Given the description of an element on the screen output the (x, y) to click on. 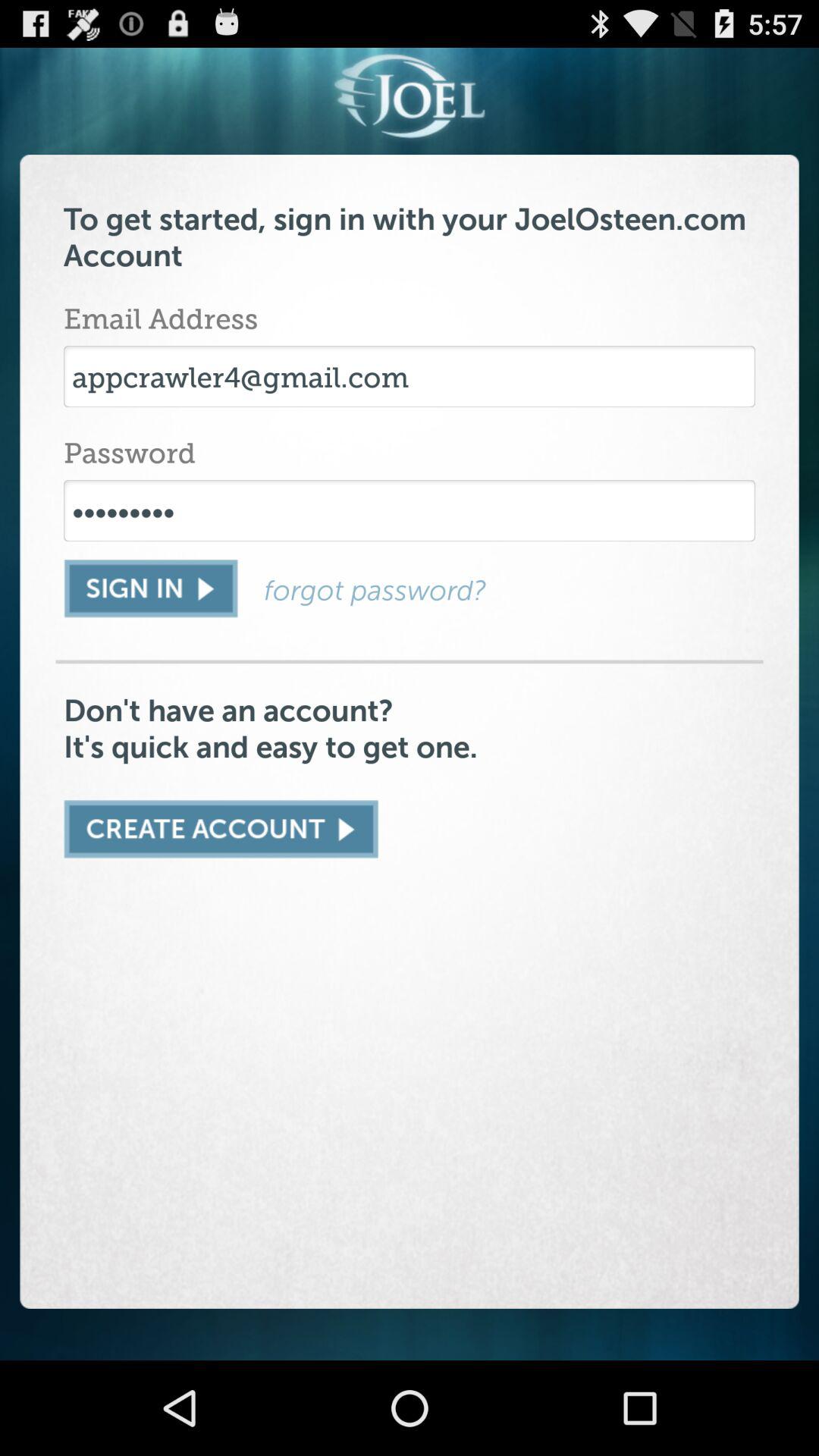
open the crowd3116 item (409, 510)
